Given the description of an element on the screen output the (x, y) to click on. 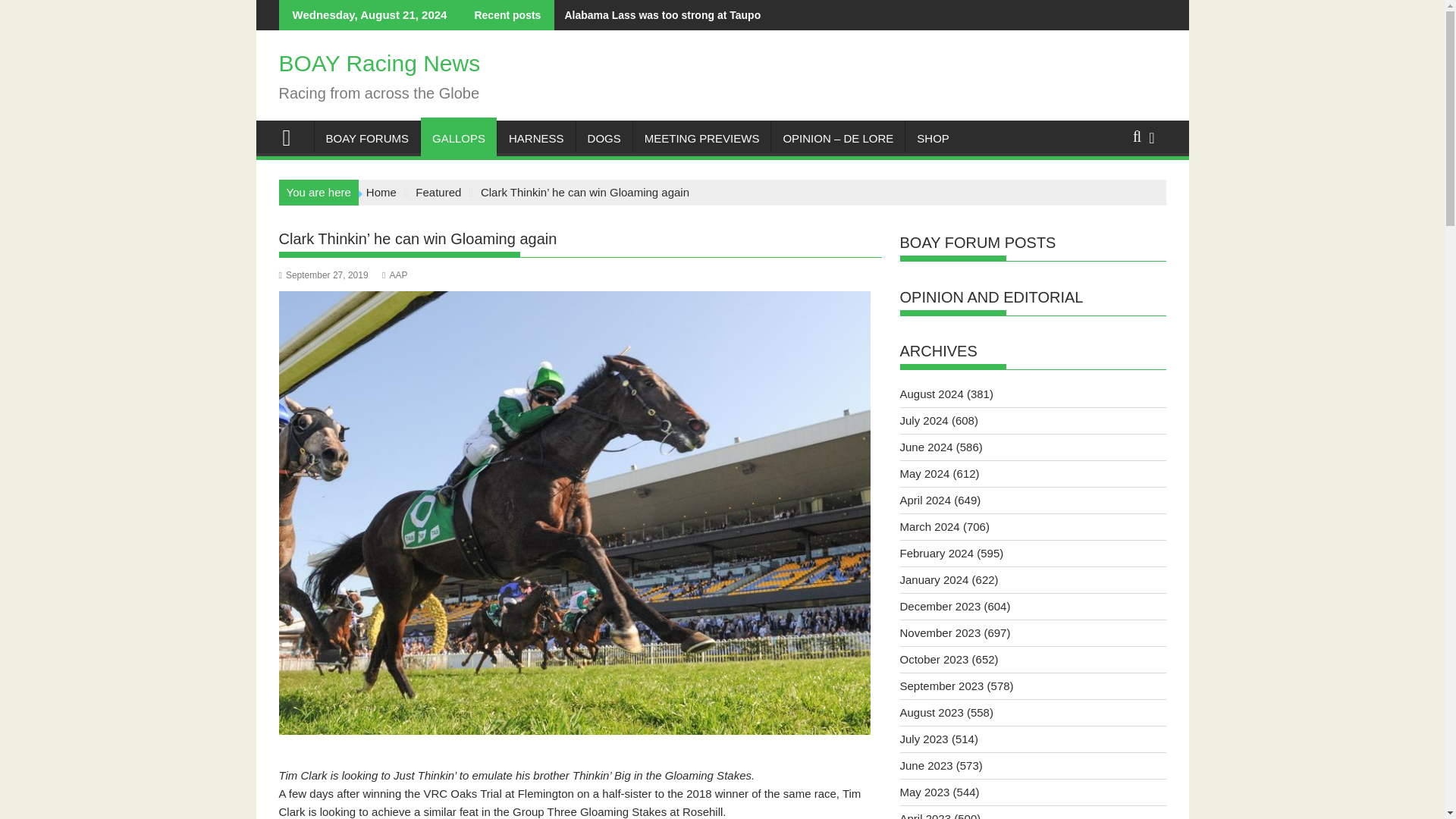
AAP (394, 275)
GALLOPS (458, 138)
Alabama Lass was too strong at Taupo (657, 15)
HARNESS (536, 138)
BOAY Racing News (379, 63)
DOGS (603, 138)
Top stablemates go head-to-head in the Pakuranga Hurdle (408, 15)
Home (381, 192)
Top stablemates go head-to-head in the Pakuranga Hurdle (408, 15)
Featured (437, 192)
